Given the description of an element on the screen output the (x, y) to click on. 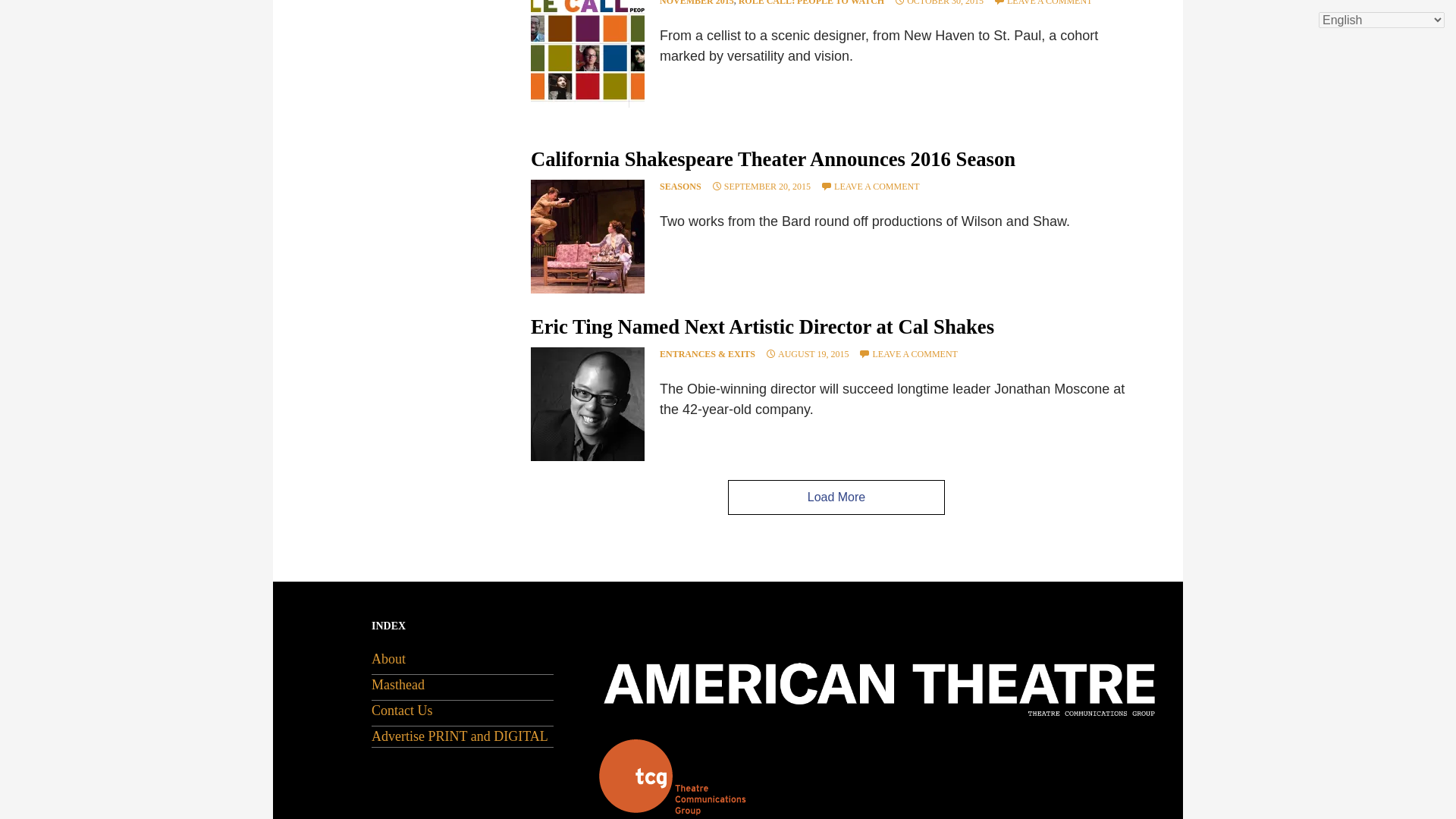
View all posts in November 2015 (696, 2)
6 Theatre Workers You Should Know (588, 53)
